Given the description of an element on the screen output the (x, y) to click on. 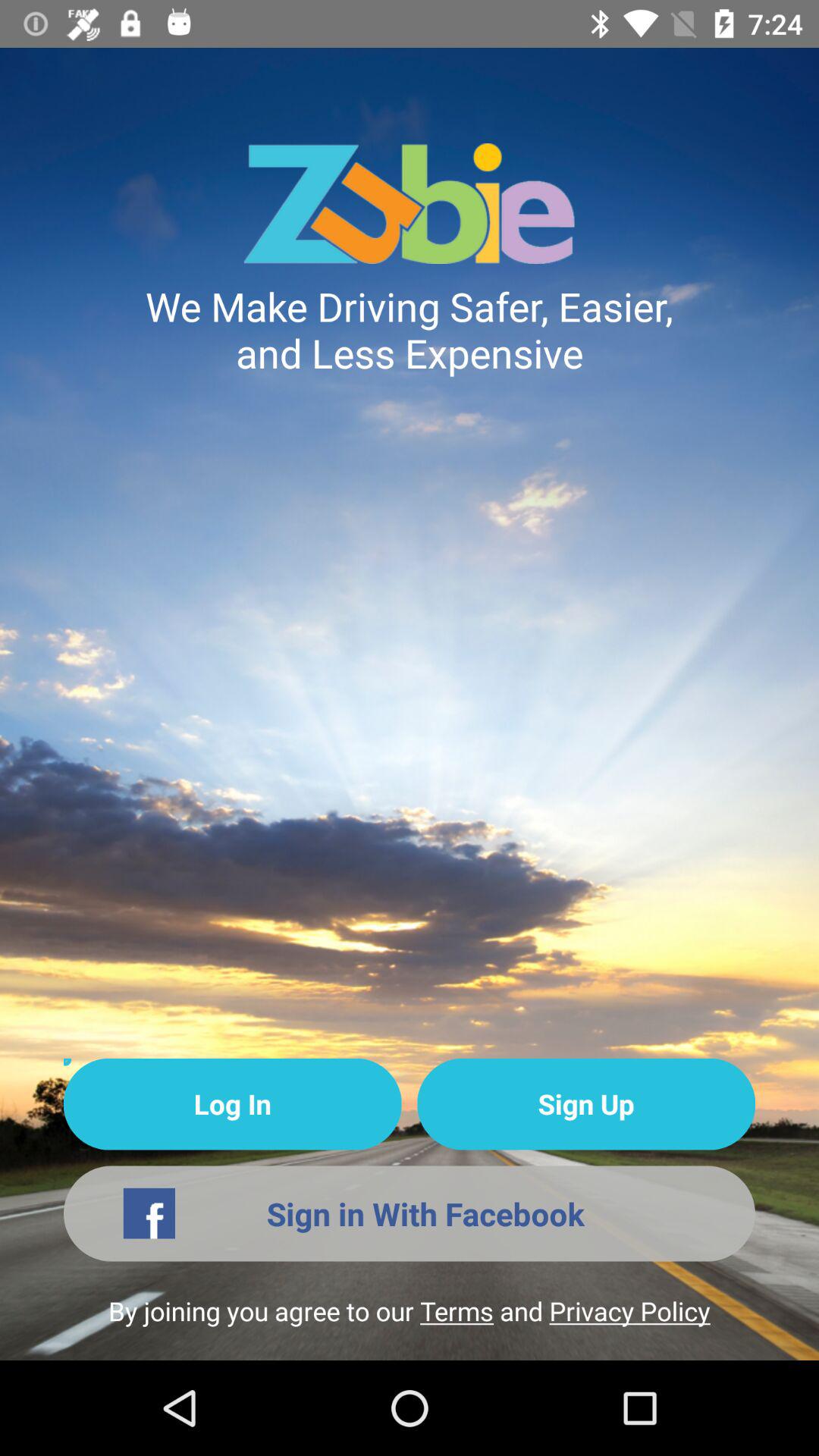
turn on the by joining you item (409, 1326)
